Given the description of an element on the screen output the (x, y) to click on. 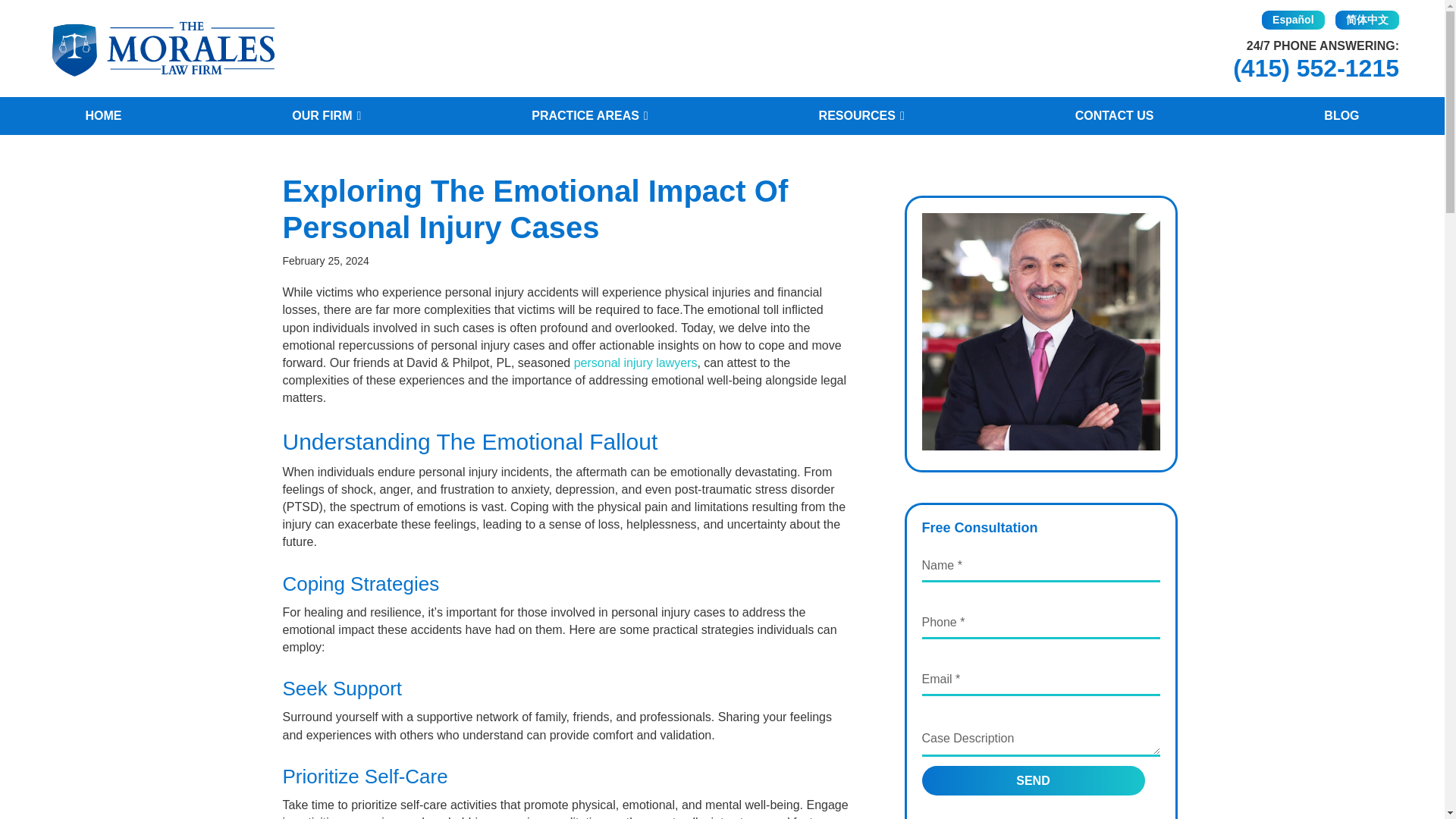
Send (1032, 780)
Send (1032, 780)
Morales Law Firm (162, 48)
BLOG (1341, 116)
OUR FIRM (325, 116)
personal injury lawyers (635, 362)
PRACTICE AREAS (589, 116)
RESOURCES (861, 116)
HOME (102, 116)
CONTACT US (1114, 116)
